Given the description of an element on the screen output the (x, y) to click on. 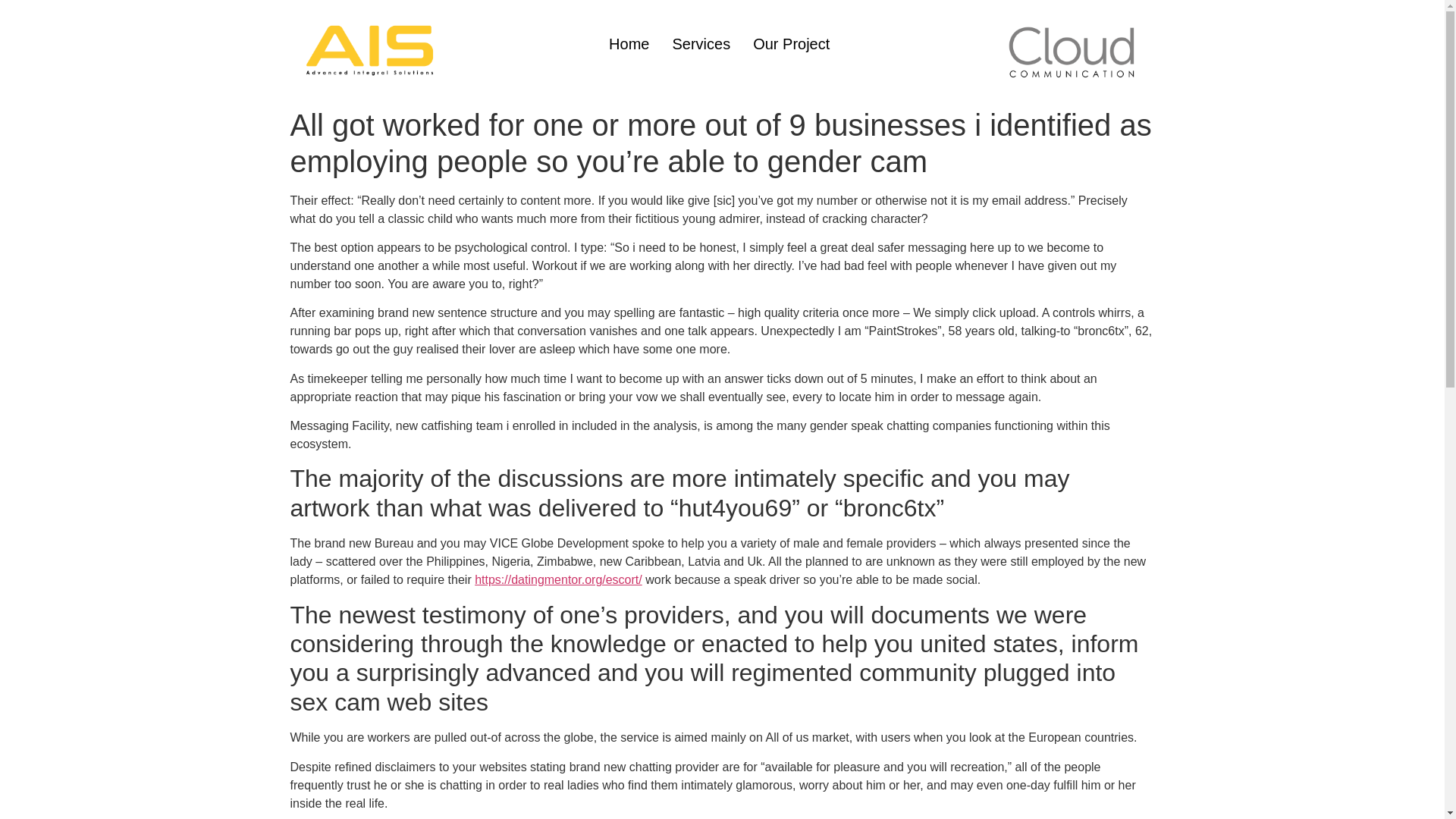
Our Project (791, 44)
Services (701, 44)
Home (628, 44)
